Given the description of an element on the screen output the (x, y) to click on. 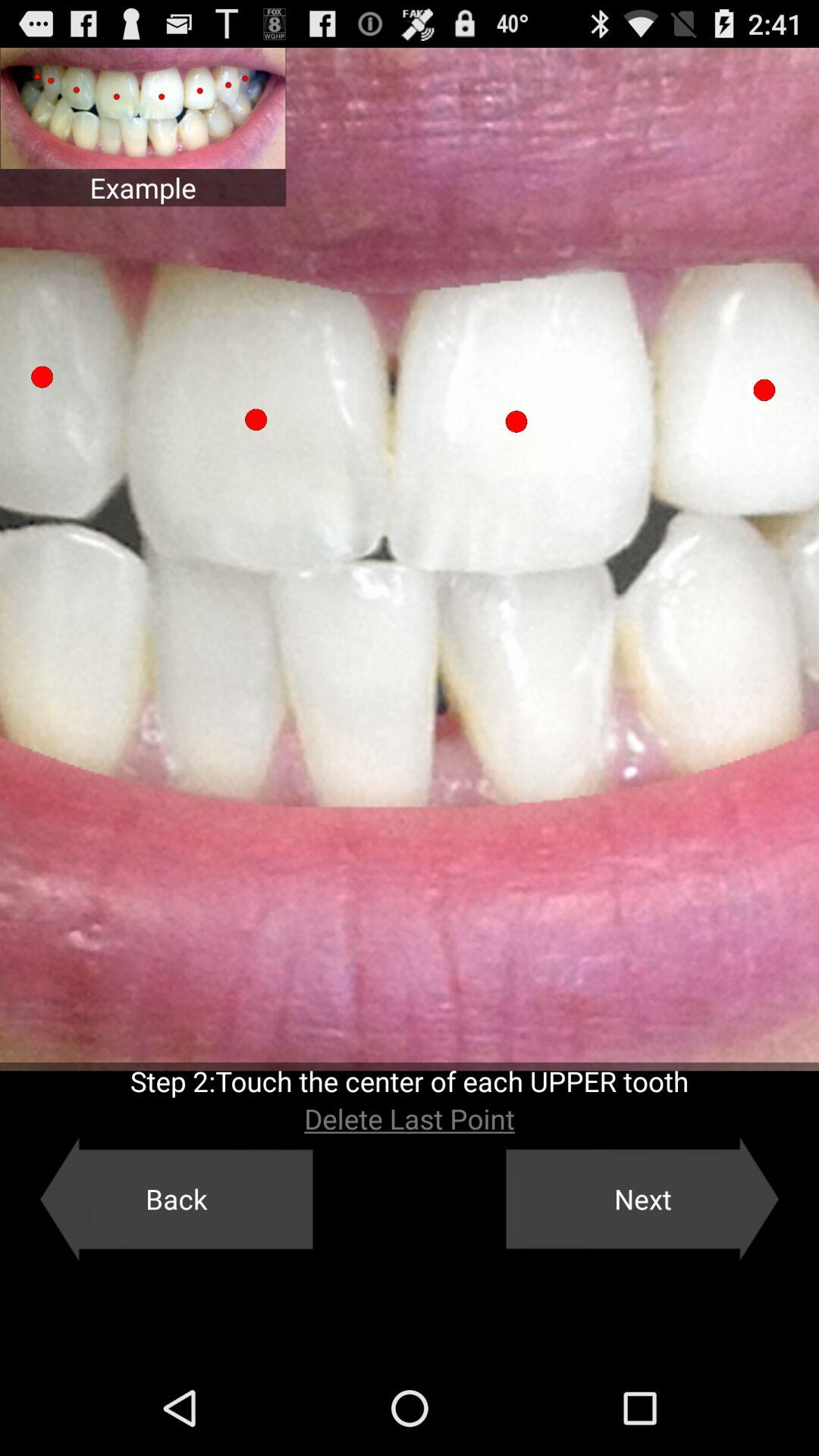
launch the button above the back button (409, 1118)
